Given the description of an element on the screen output the (x, y) to click on. 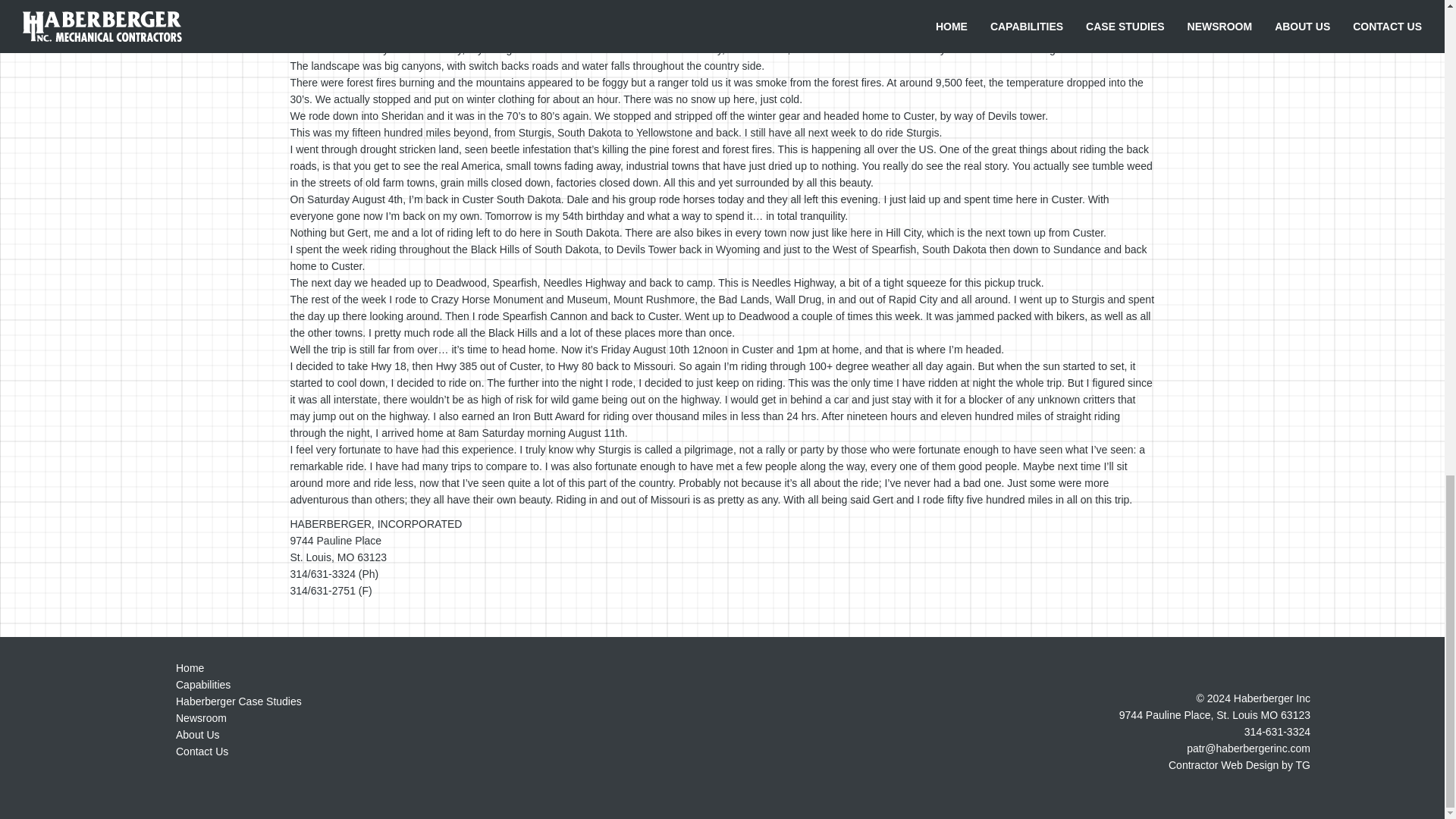
Contact Us (202, 751)
Newsroom (201, 717)
Capabilities (203, 684)
Haberberger Case Studies (238, 701)
Contractor Web Design (1223, 765)
About Us (197, 734)
314-631-3324 (1277, 731)
9744 Pauline Place, St. Louis MO 63123 (1214, 715)
Home (189, 667)
